Given the description of an element on the screen output the (x, y) to click on. 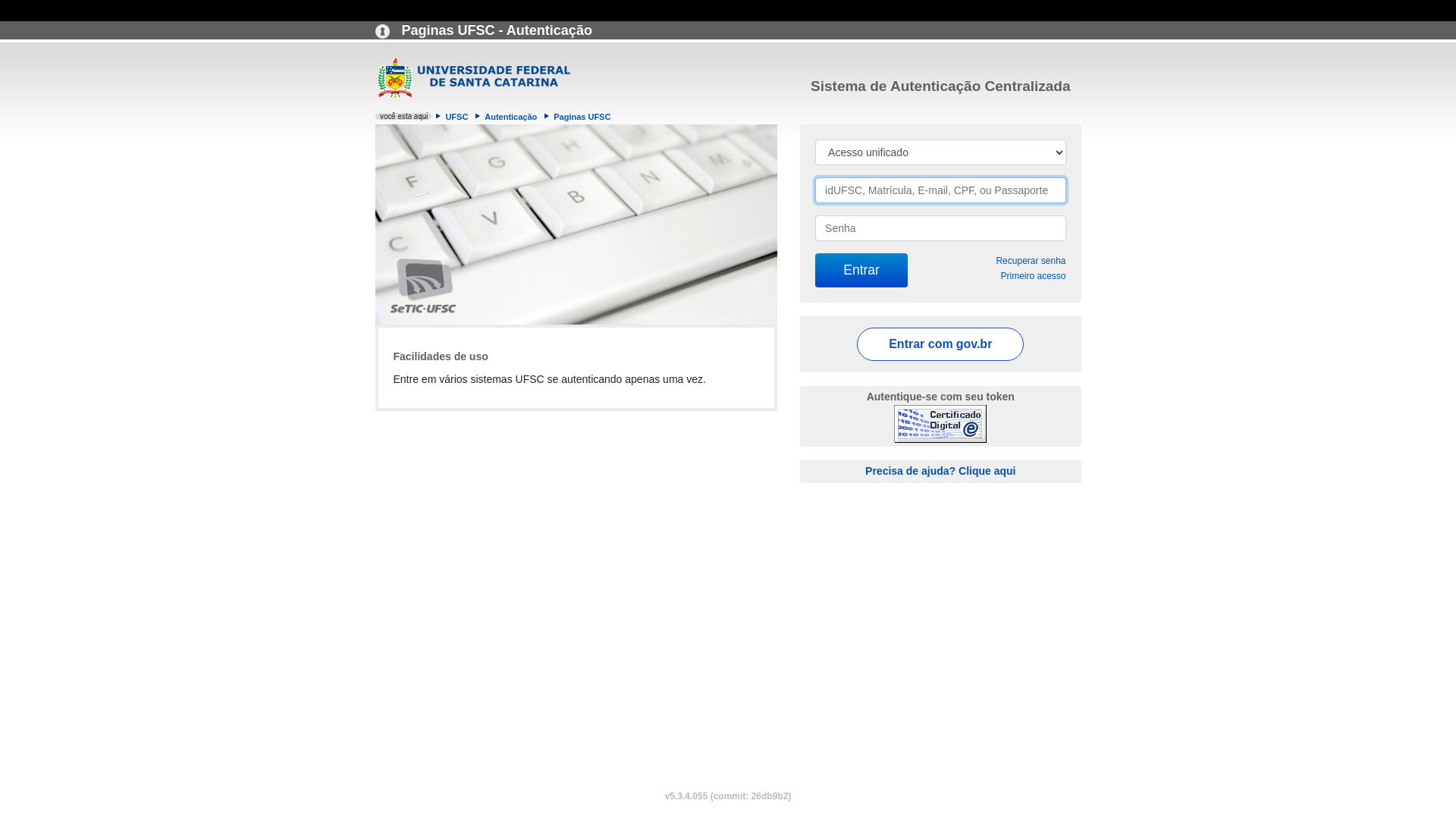
UFSC Element type: text (456, 116)
Entrar com
gov.br Element type: text (939, 343)
Precisa de ajuda? Clique aqui Element type: text (940, 470)
Entrar Element type: text (861, 270)
Recuperar senha Element type: text (1030, 260)
Primeiro acesso Element type: text (1032, 275)
Paginas UFSC Element type: text (581, 116)
